Given the description of an element on the screen output the (x, y) to click on. 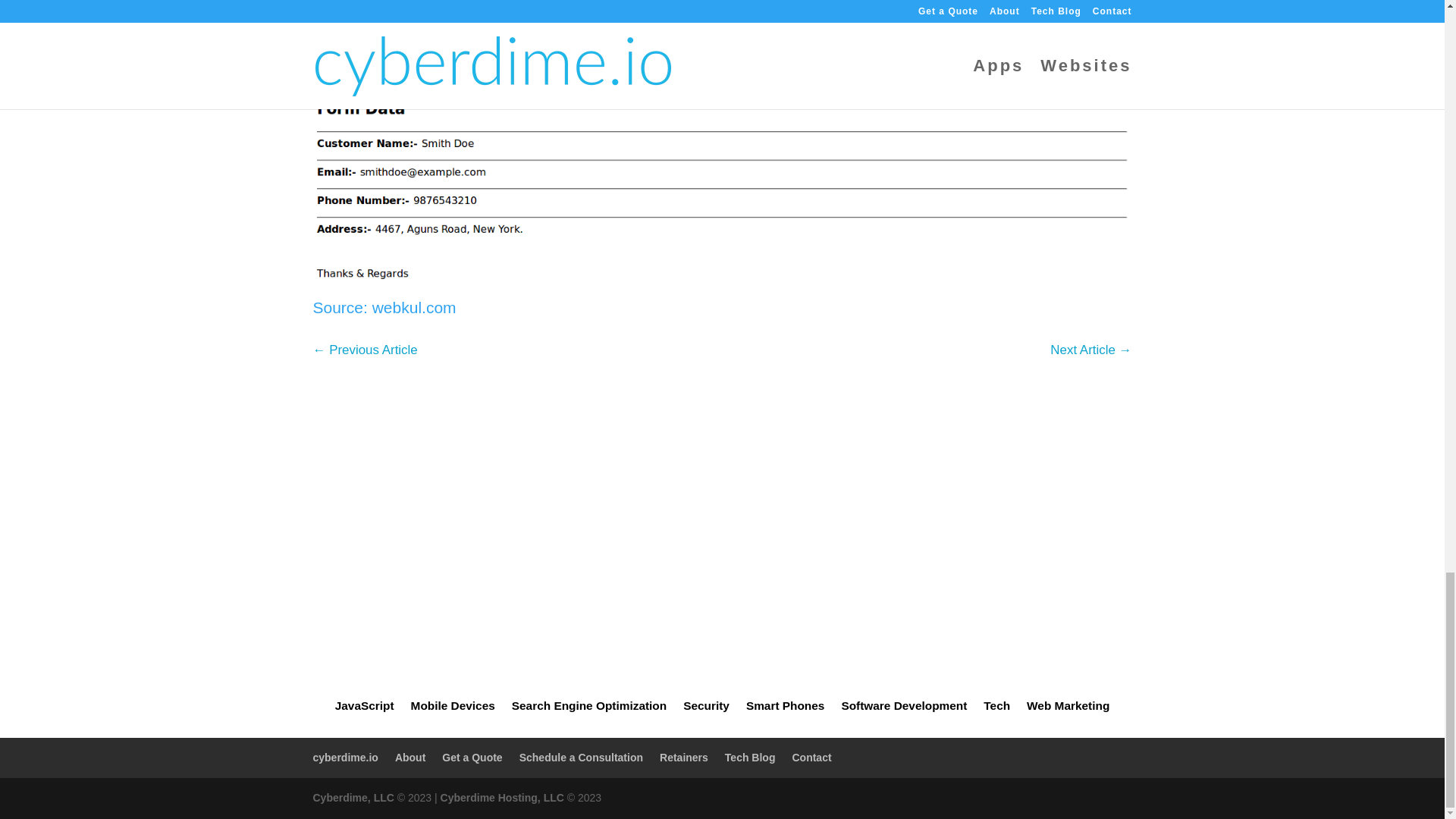
Source: webkul.com (384, 307)
JavaScript (364, 709)
Mobile Devices (452, 709)
Search Engine Optimization (589, 709)
